Given the description of an element on the screen output the (x, y) to click on. 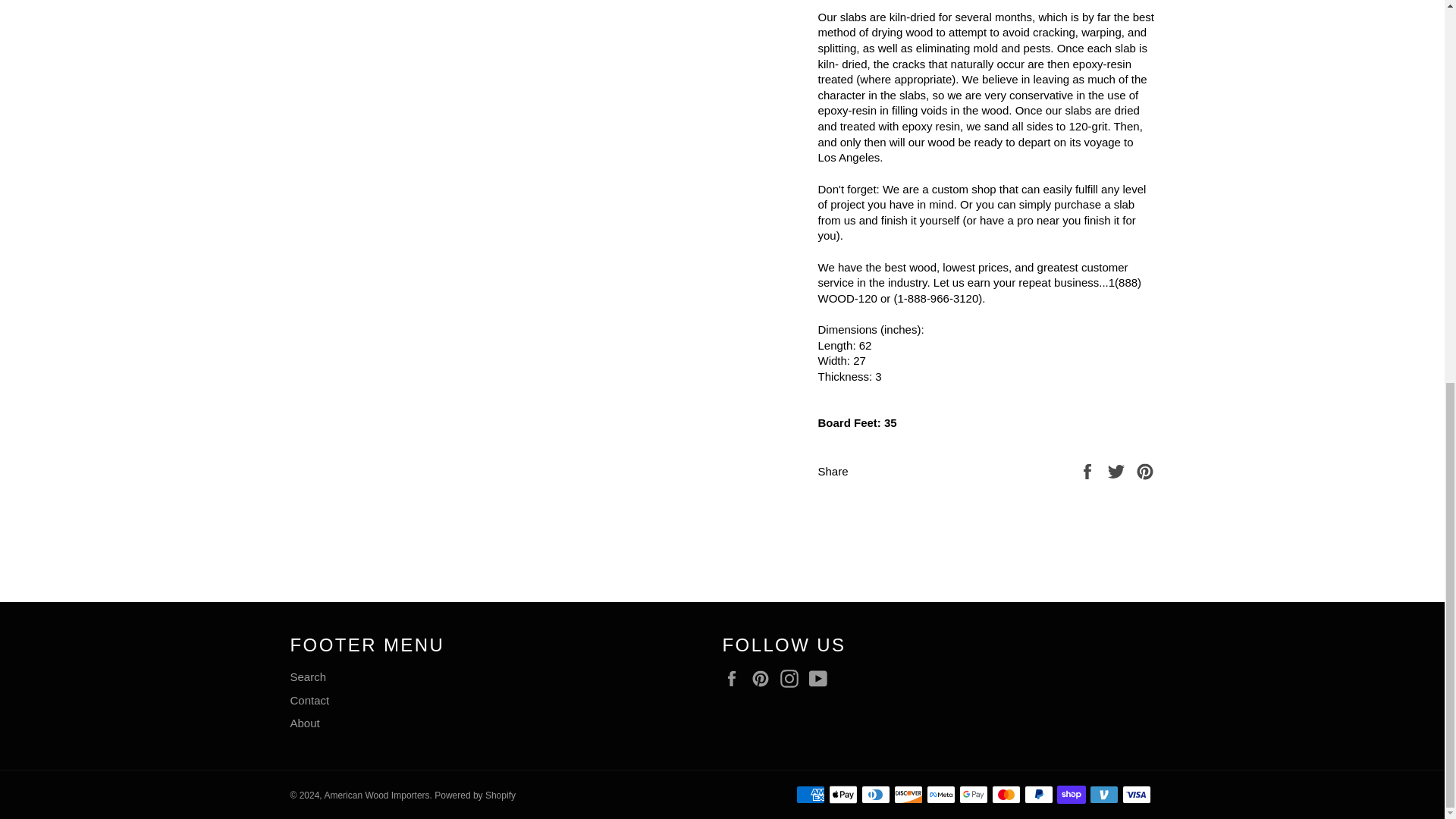
Pin on Pinterest (1144, 470)
Share on Facebook (1088, 470)
American Wood Importers on Instagram (793, 678)
American Wood Importers on Pinterest (764, 678)
Tweet on Twitter (1117, 470)
American Wood Importers on YouTube (821, 678)
American Wood Importers on Facebook (735, 678)
